Given the description of an element on the screen output the (x, y) to click on. 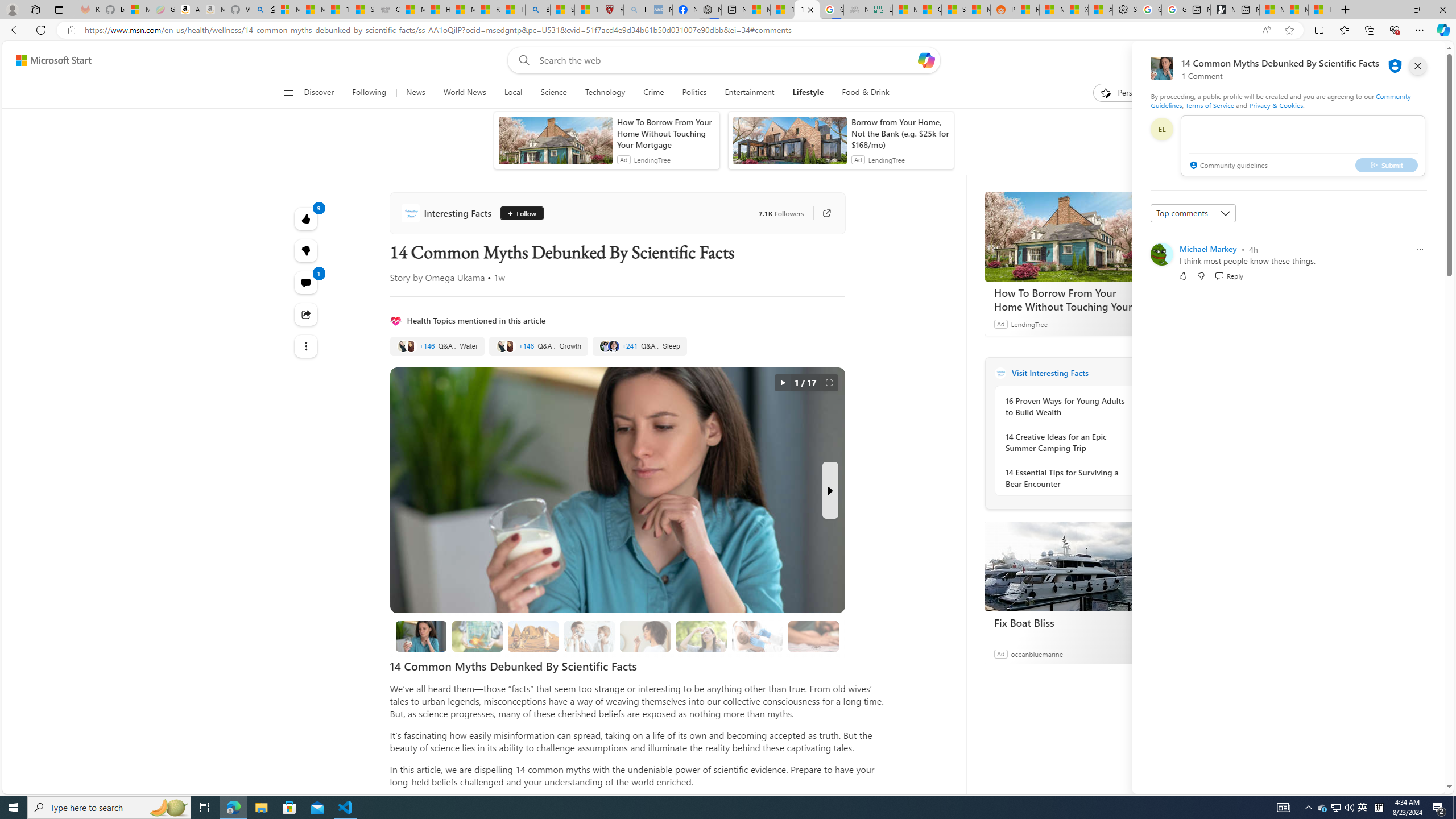
5. Childhood Was High-Risk (757, 635)
Profile Picture (1161, 254)
Like (1182, 275)
Robert H. Shmerling, MD - Harvard Health (611, 9)
R******* | Trusted Community Engagement and Contributions (1026, 9)
How I Got Rid of Microsoft Edge's Unnecessary Features (437, 9)
World News (464, 92)
